Given the description of an element on the screen output the (x, y) to click on. 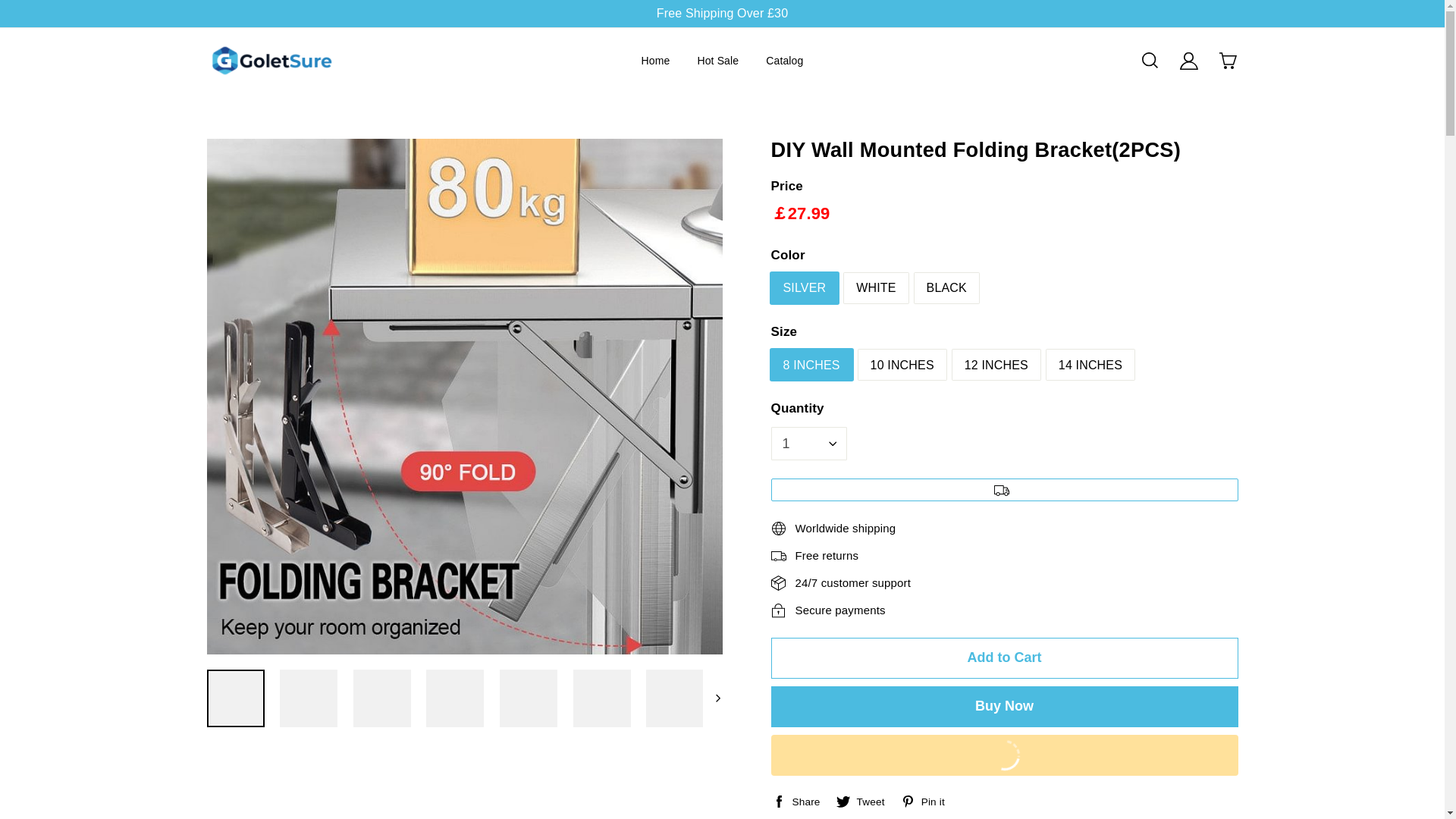
Hot Sale (717, 60)
Add to Cart (1003, 658)
Catalog (784, 60)
